Given the description of an element on the screen output the (x, y) to click on. 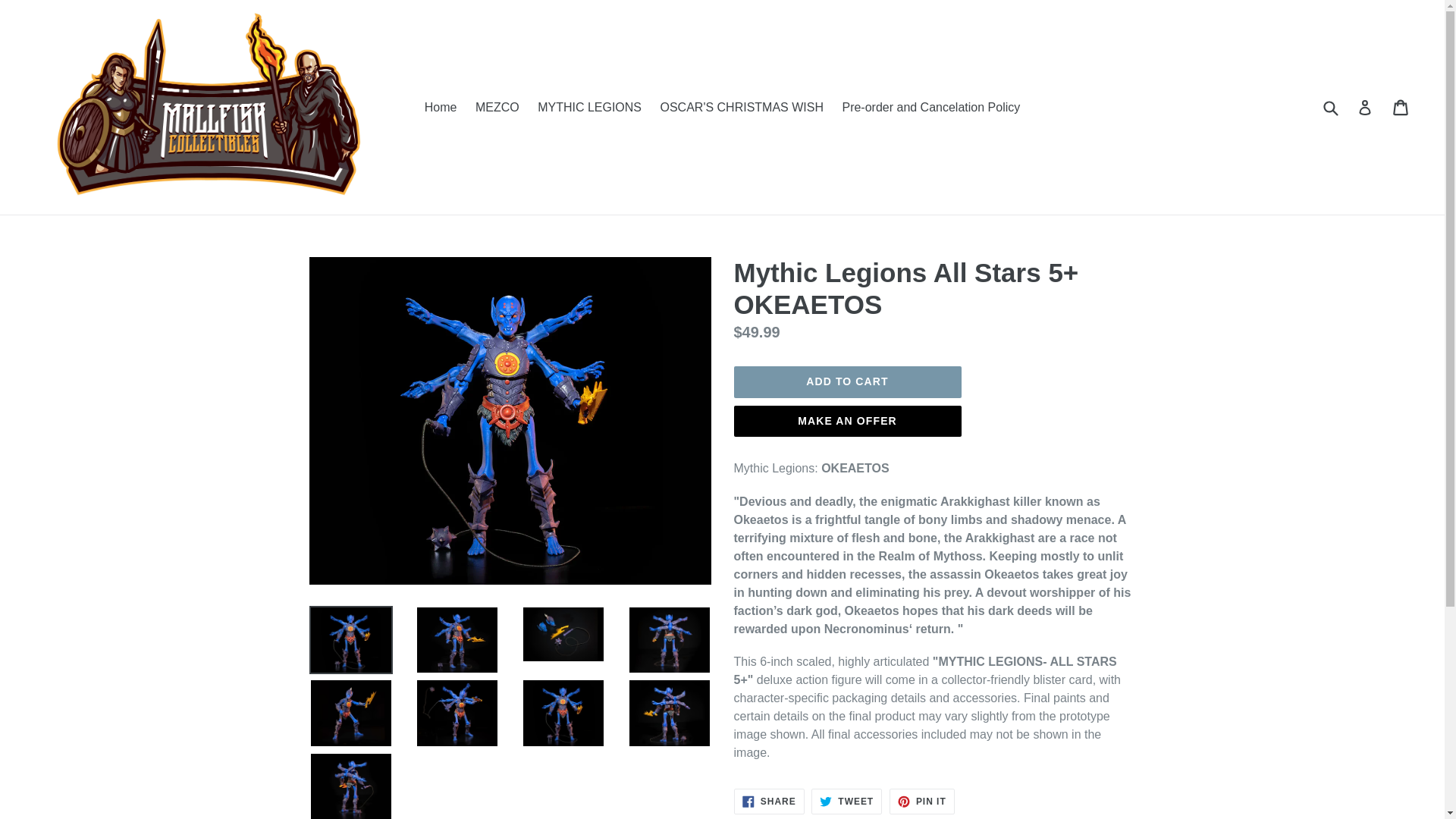
MEZCO (497, 107)
OSCAR'S CHRISTMAS WISH (846, 801)
Pre-order and Cancelation Policy (769, 801)
Share on Facebook (741, 107)
MAKE AN OFFER (930, 107)
MYTHIC LEGIONS (769, 801)
Pin on Pinterest (846, 421)
